Given the description of an element on the screen output the (x, y) to click on. 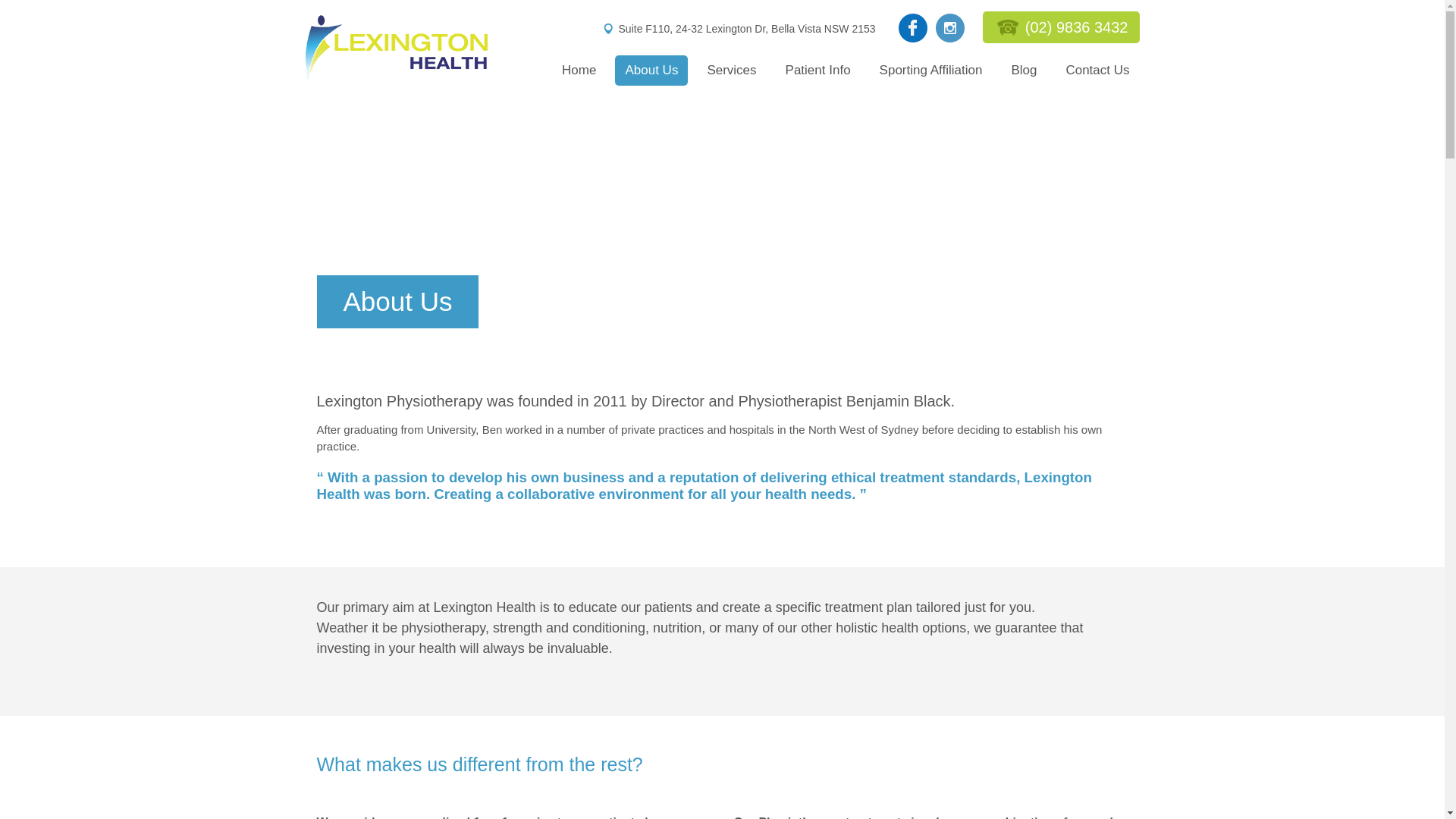
Home Element type: text (578, 70)
Blog Element type: text (1023, 70)
Sporting Affiliation Element type: text (930, 70)
About Us Element type: text (651, 70)
Patient Info Element type: text (817, 70)
Contact Us Element type: text (1097, 70)
Services Element type: text (730, 70)
